Given the description of an element on the screen output the (x, y) to click on. 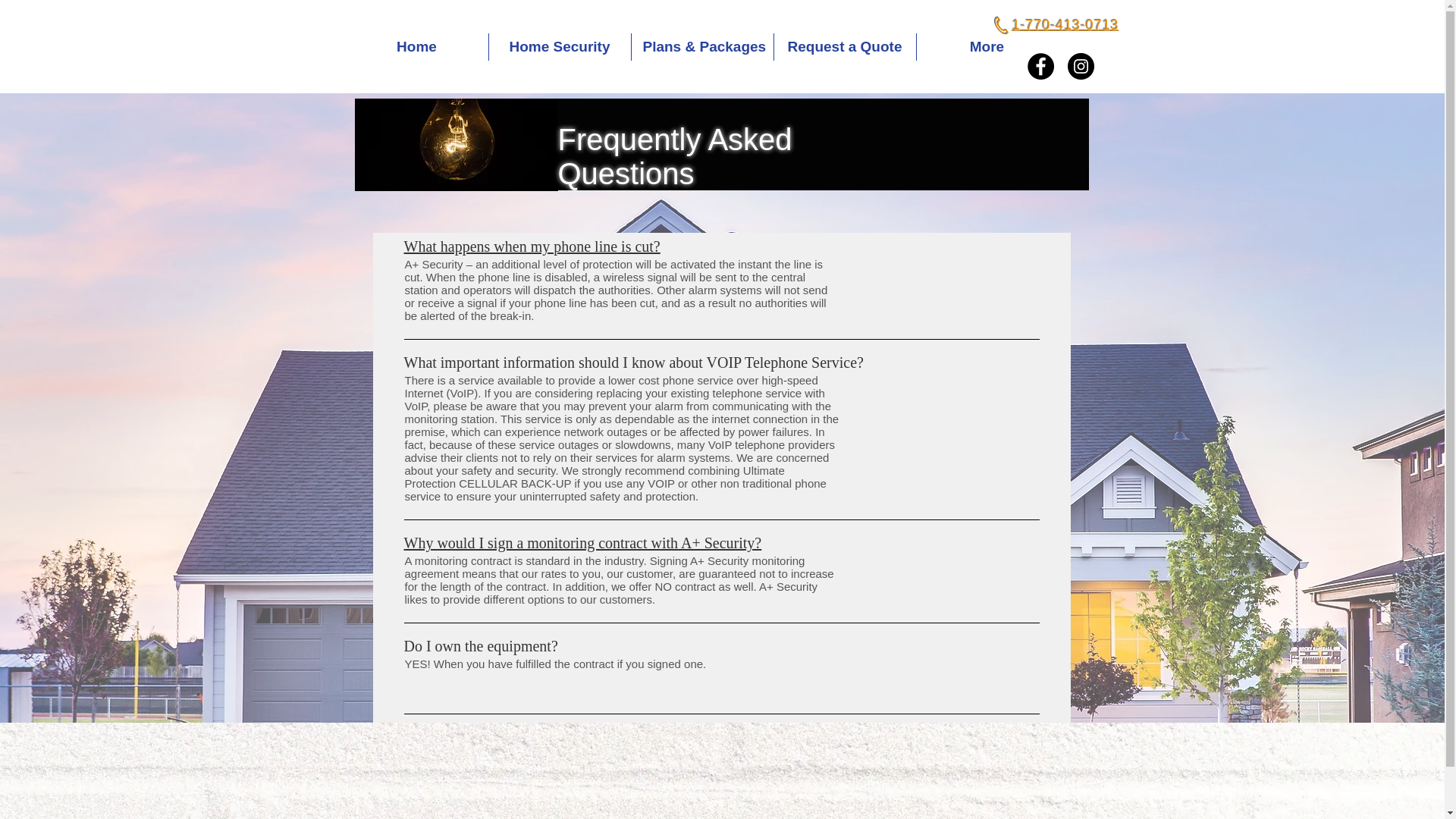
Request a Quote (844, 46)
Home Security (558, 46)
1-770-413-0713 (1065, 24)
What happens when my phone line is cut? (531, 246)
Home (416, 46)
